Given the description of an element on the screen output the (x, y) to click on. 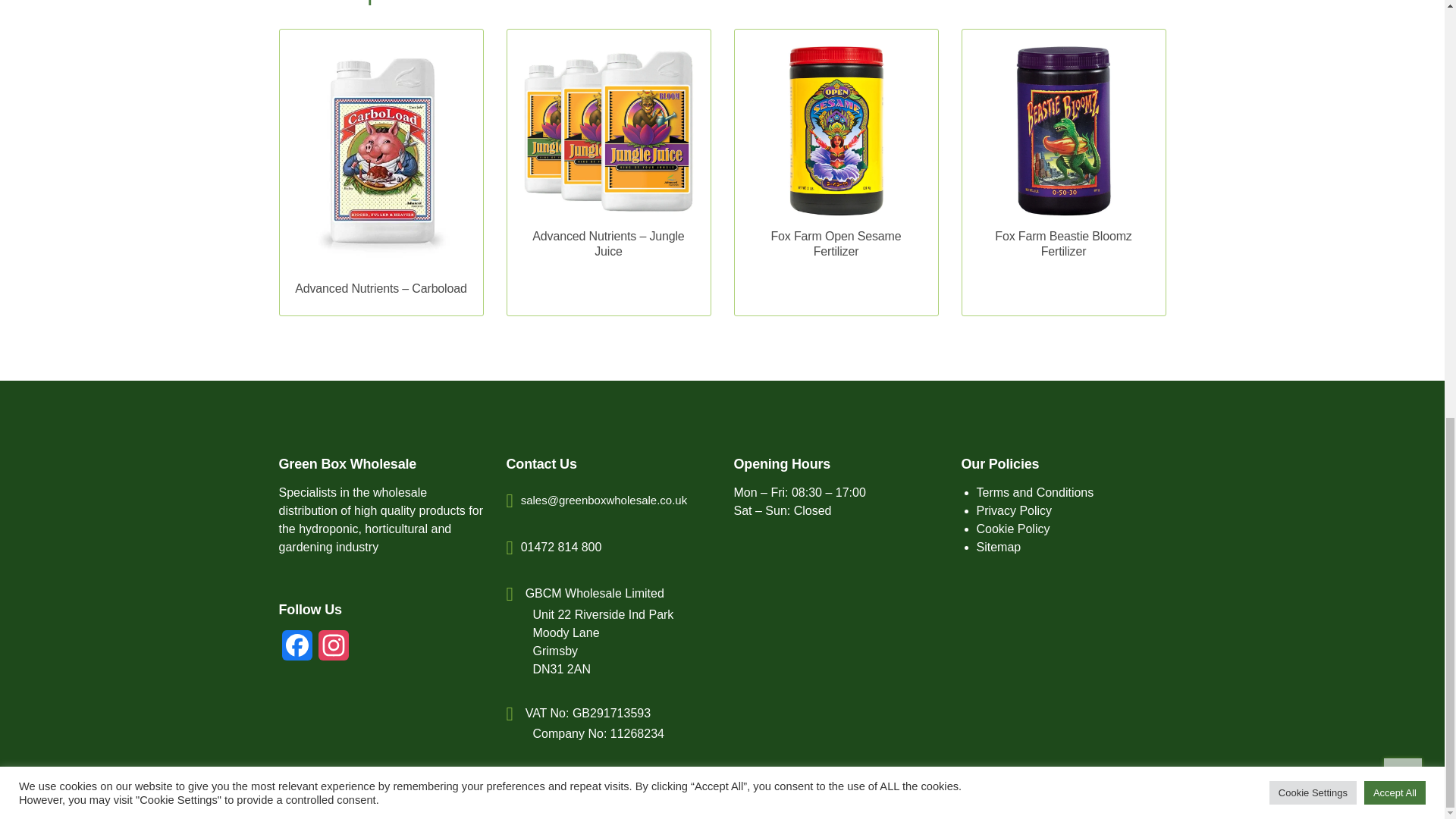
Privacy policy (1014, 510)
Sitemap (999, 546)
Cookie policy (1012, 528)
Terms and conditions (1035, 492)
